Given the description of an element on the screen output the (x, y) to click on. 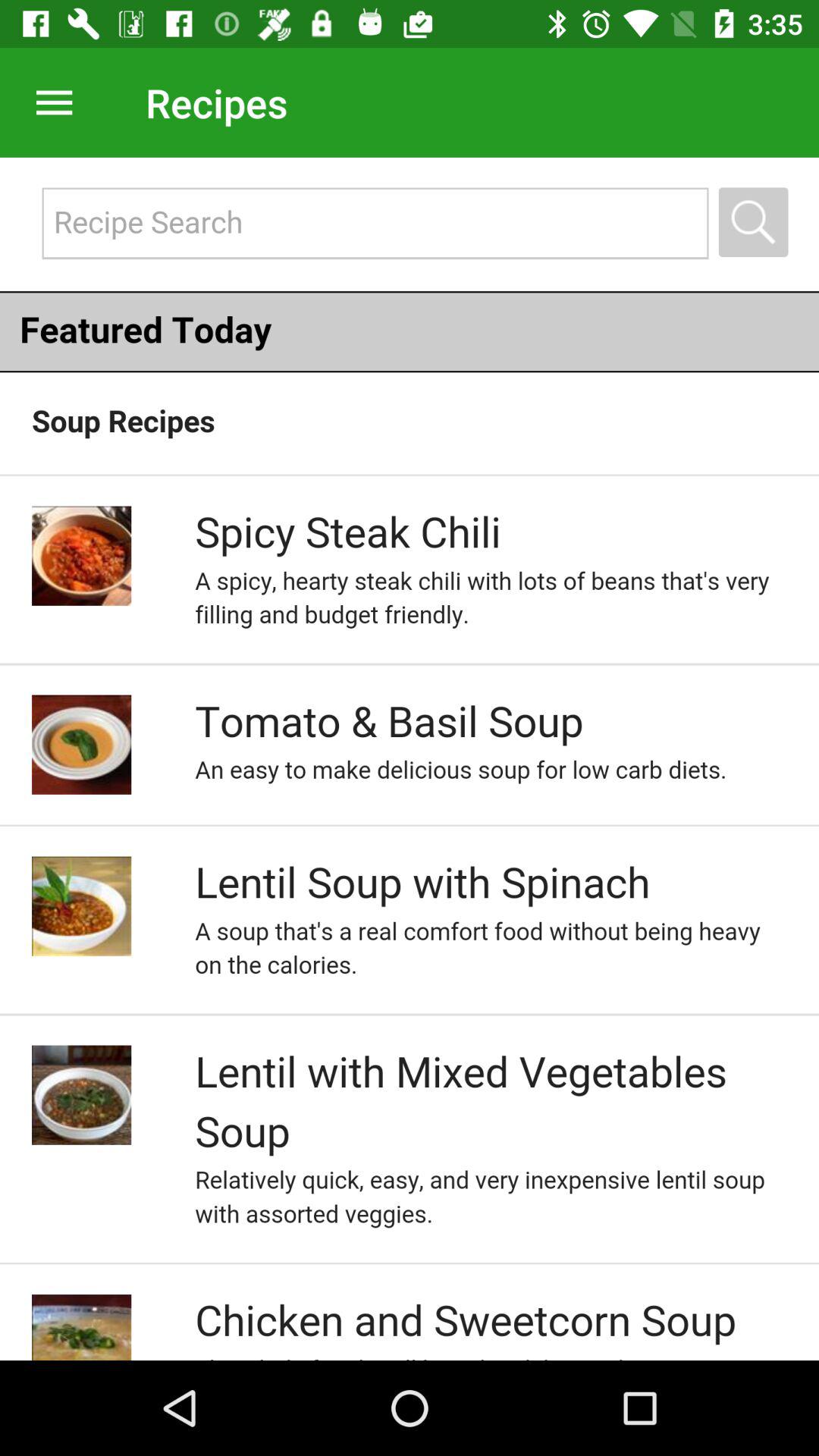
menu pega (48, 102)
